Given the description of an element on the screen output the (x, y) to click on. 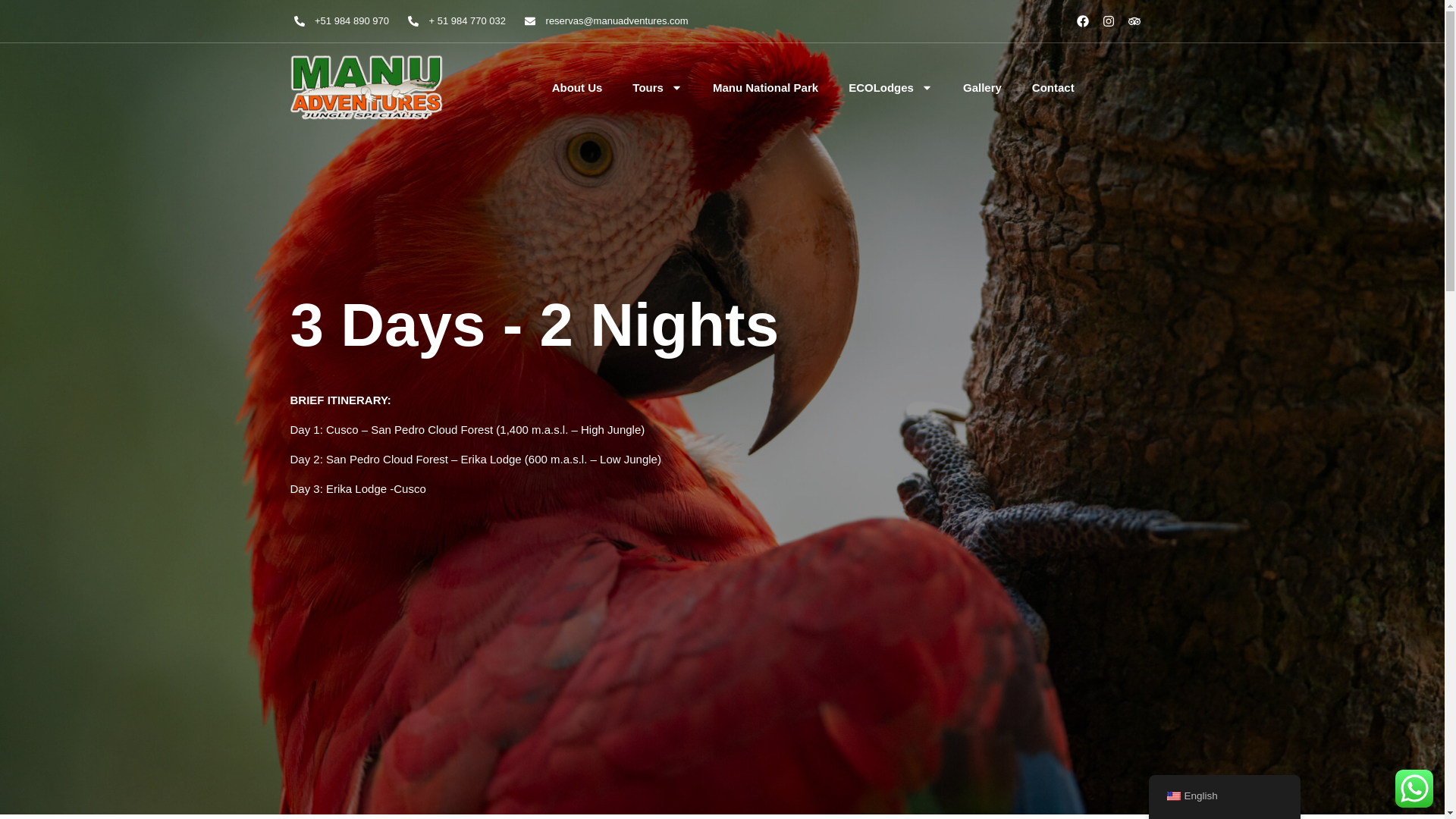
English (1172, 795)
Tours (656, 87)
About Us (576, 87)
ECOLodges (890, 87)
Gallery (981, 87)
Contact (1053, 87)
Manu National Park (765, 87)
